Given the description of an element on the screen output the (x, y) to click on. 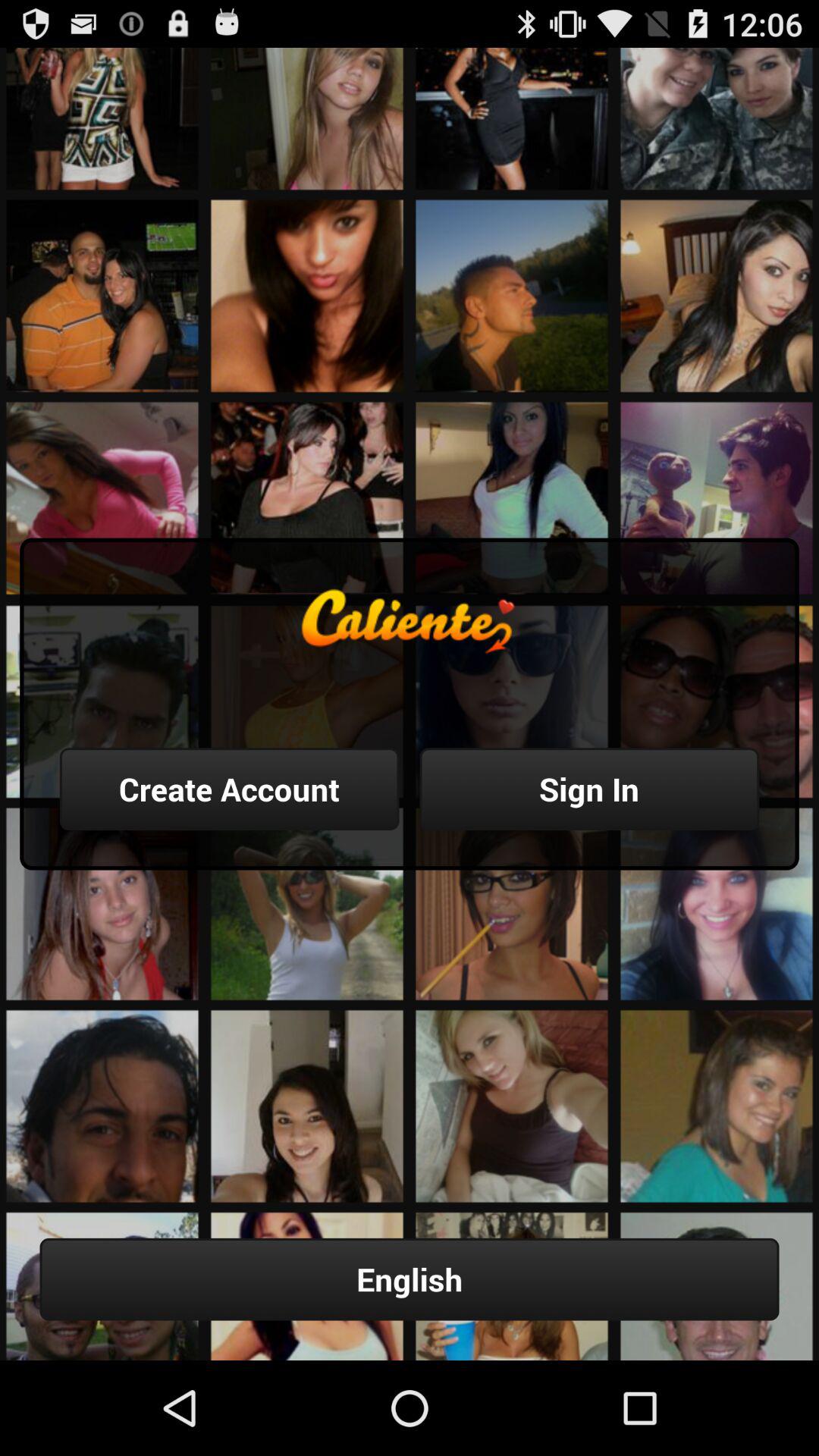
open sign in icon (589, 788)
